Given the description of an element on the screen output the (x, y) to click on. 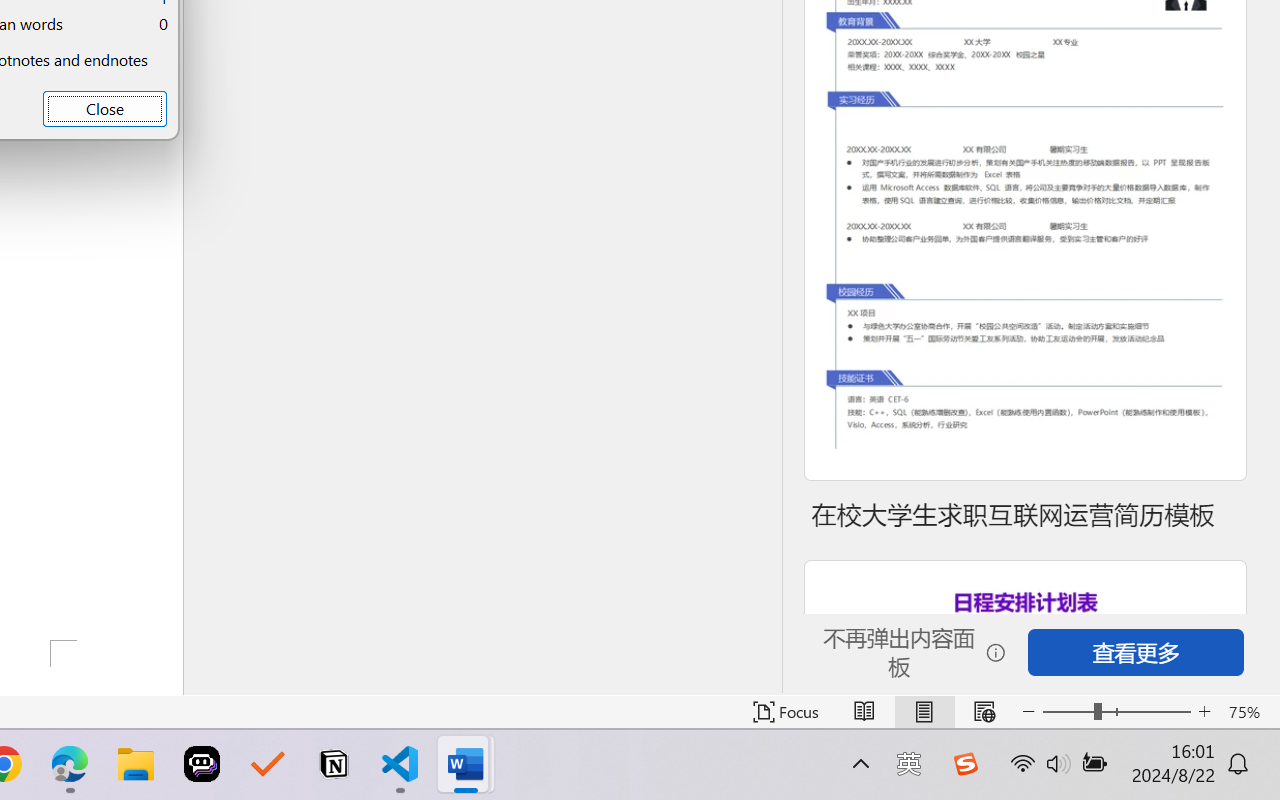
Print Layout (924, 712)
Close (104, 108)
Zoom Out (1067, 712)
Zoom (1116, 712)
